Given the description of an element on the screen output the (x, y) to click on. 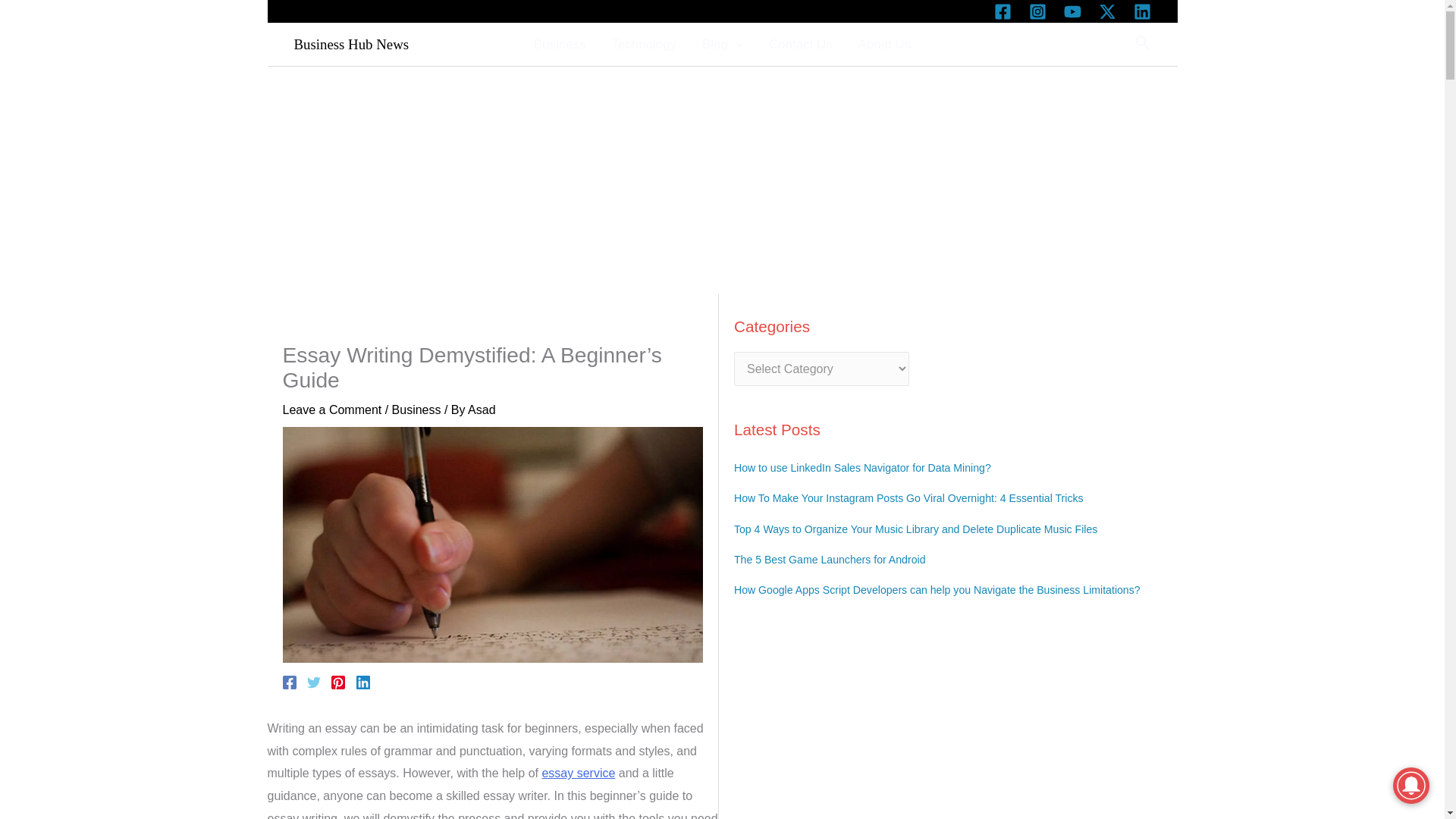
Asad (481, 409)
Business (559, 44)
Contact Us (800, 44)
essay service (577, 772)
Technology (643, 44)
Blog (721, 44)
Leave a Comment (331, 409)
Business Hub News (351, 44)
About Us (884, 44)
Business (416, 409)
View all posts by Asad (481, 409)
